Given the description of an element on the screen output the (x, y) to click on. 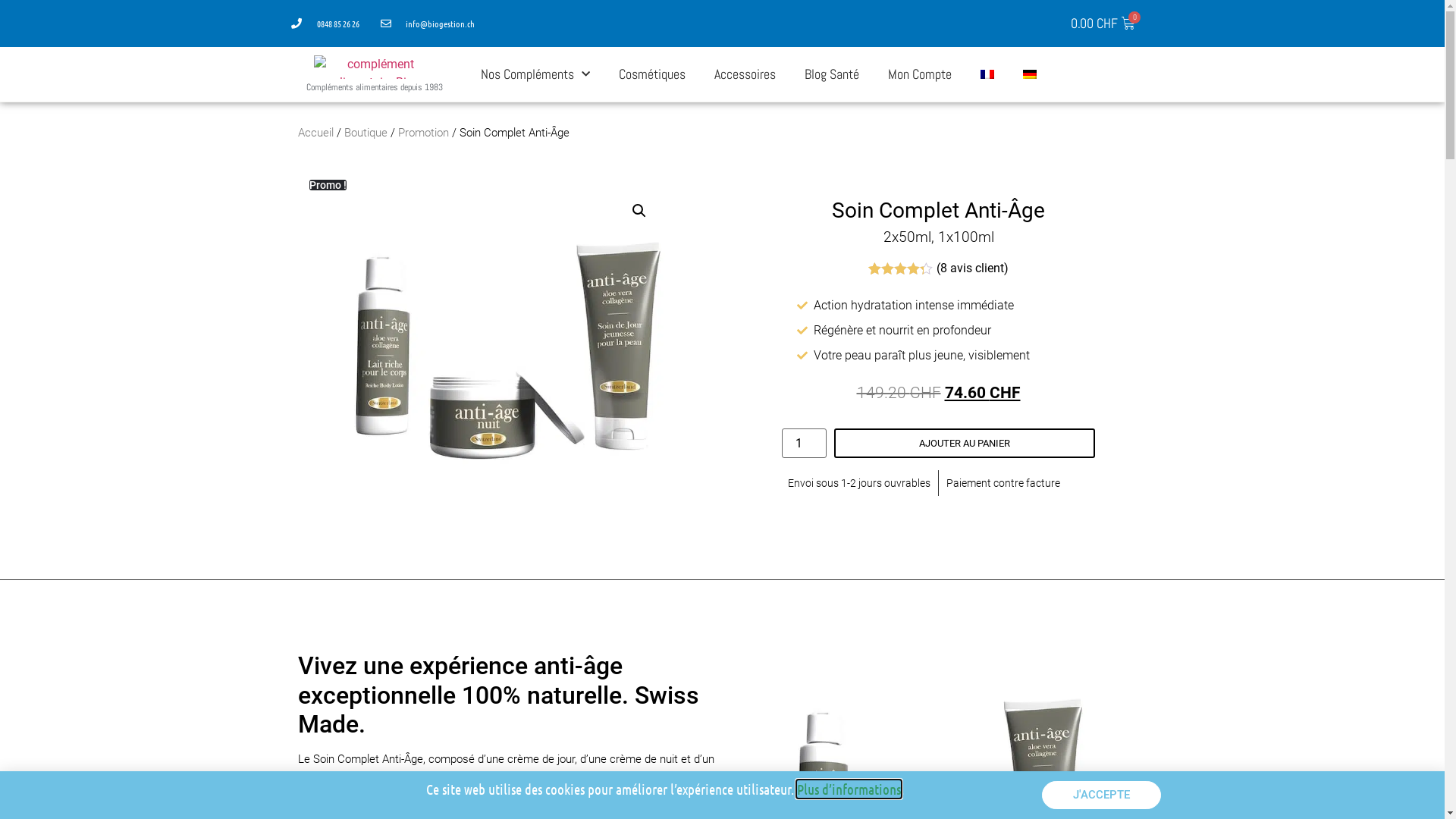
Promotion Element type: text (422, 132)
Boutique Element type: text (365, 132)
Accueil Element type: text (314, 132)
Mon Compte Element type: text (919, 74)
AJOUTER AU PANIER Element type: text (964, 443)
Accessoires Element type: text (744, 74)
J'ACCEPTE Element type: text (1101, 795)
0848 85 26 26 Element type: text (325, 23)
0.00 CHF
0 Element type: text (1102, 23)
(8 avis client) Element type: text (972, 268)
info@biogestion.ch Element type: text (427, 23)
